Given the description of an element on the screen output the (x, y) to click on. 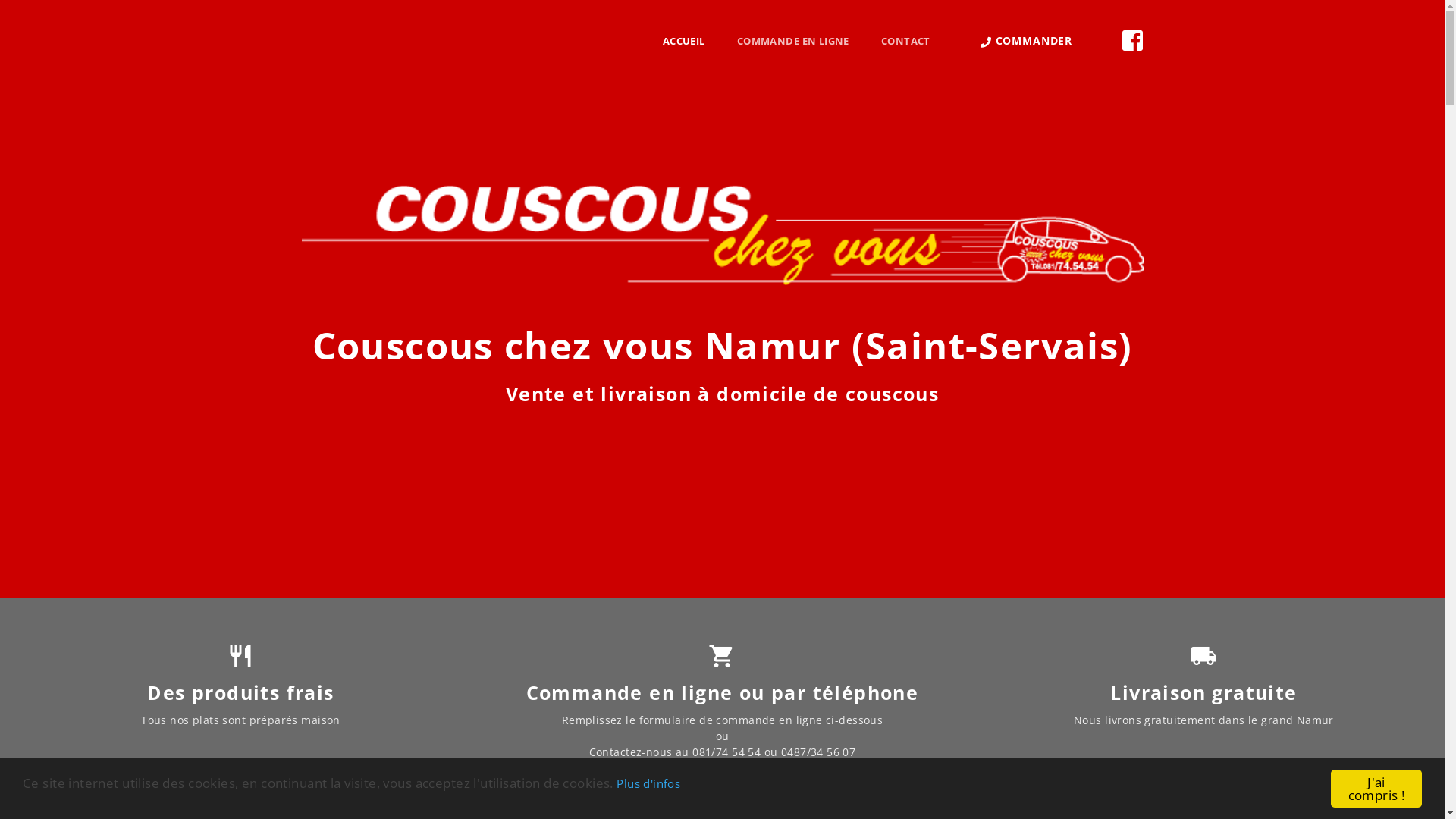
COMMANDE EN LIGNE Element type: text (793, 41)
ACCUEIL Element type: text (683, 41)
COMMANDER Element type: text (1026, 41)
J'ai compris ! Element type: text (1375, 788)
CONTACT Element type: text (897, 41)
Plus d'infos Element type: text (648, 782)
